Given the description of an element on the screen output the (x, y) to click on. 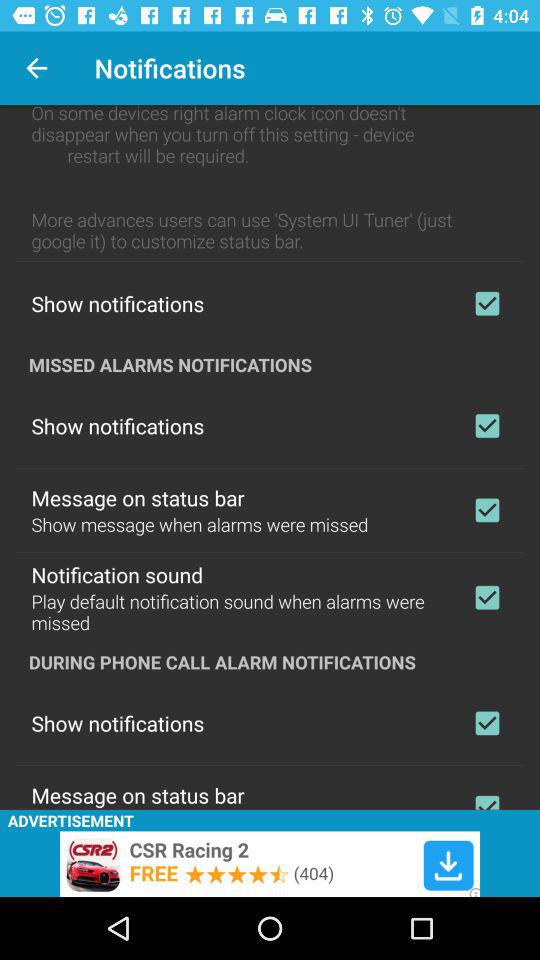
go to advertisement (270, 864)
